Given the description of an element on the screen output the (x, y) to click on. 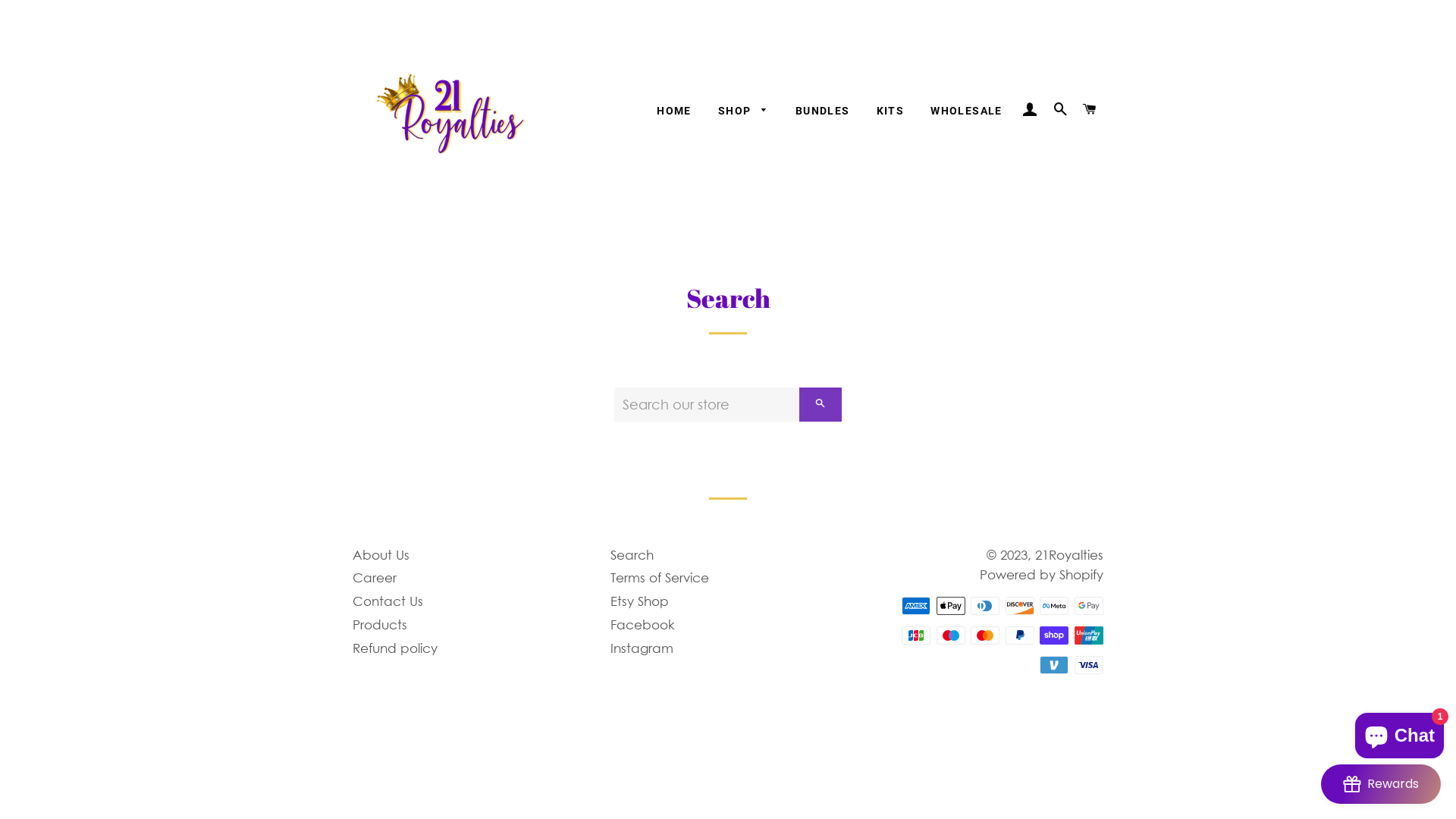
Powered by Shopify Element type: text (1041, 574)
Shopify online store chat Element type: hover (1399, 732)
CART Element type: text (1090, 109)
Refund policy Element type: text (394, 647)
KITS Element type: text (890, 111)
Etsy Shop Element type: text (639, 600)
WHOLESALE Element type: text (966, 111)
21Royalties Element type: text (1069, 554)
Contact Us Element type: text (387, 600)
HOME Element type: text (673, 111)
Search Element type: text (631, 554)
LOG IN Element type: text (1030, 109)
SHOP Element type: text (743, 111)
Terms of Service Element type: text (659, 577)
SEARCH Element type: text (820, 404)
About Us Element type: text (380, 554)
Facebook Element type: text (642, 624)
Rewards Element type: text (1380, 783)
BUNDLES Element type: text (822, 111)
Products Element type: text (379, 624)
SEARCH Element type: text (1060, 109)
Career Element type: text (374, 577)
Instagram Element type: text (641, 647)
